Given the description of an element on the screen output the (x, y) to click on. 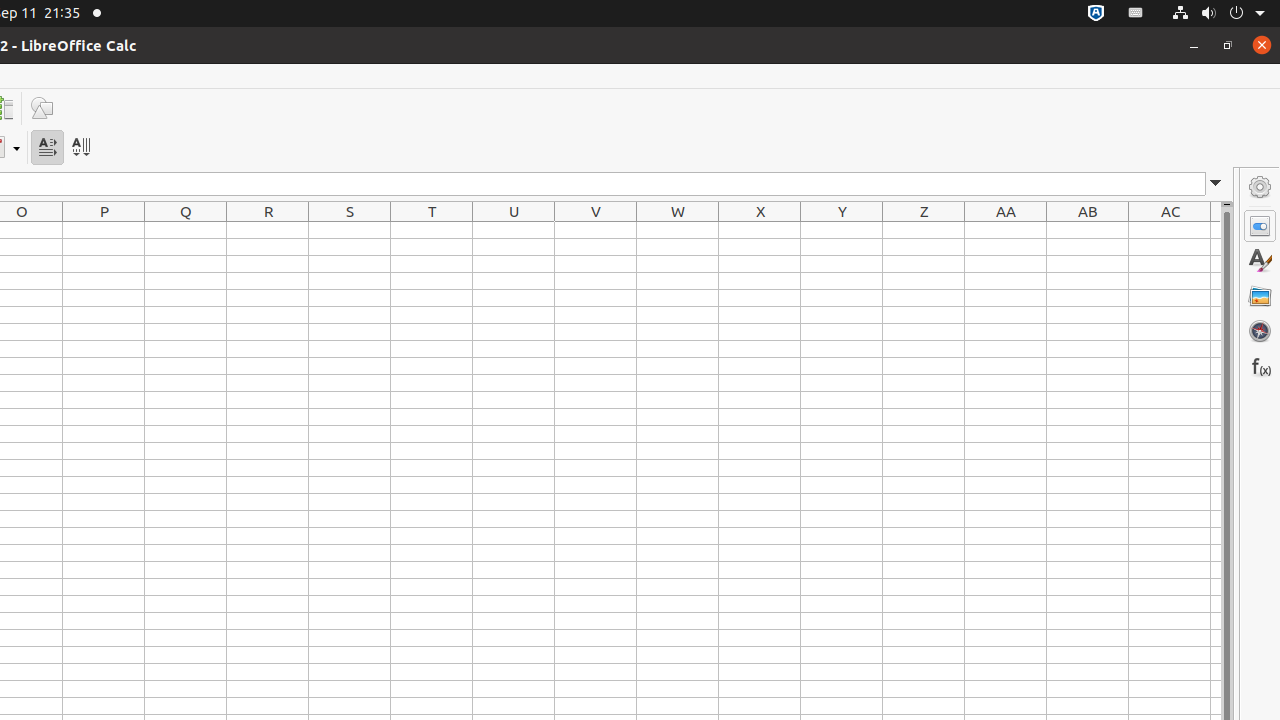
V1 Element type: table-cell (596, 230)
Navigator Element type: radio-button (1260, 331)
T1 Element type: table-cell (432, 230)
Q1 Element type: table-cell (186, 230)
Text direction from left to right Element type: toggle-button (47, 147)
